Given the description of an element on the screen output the (x, y) to click on. 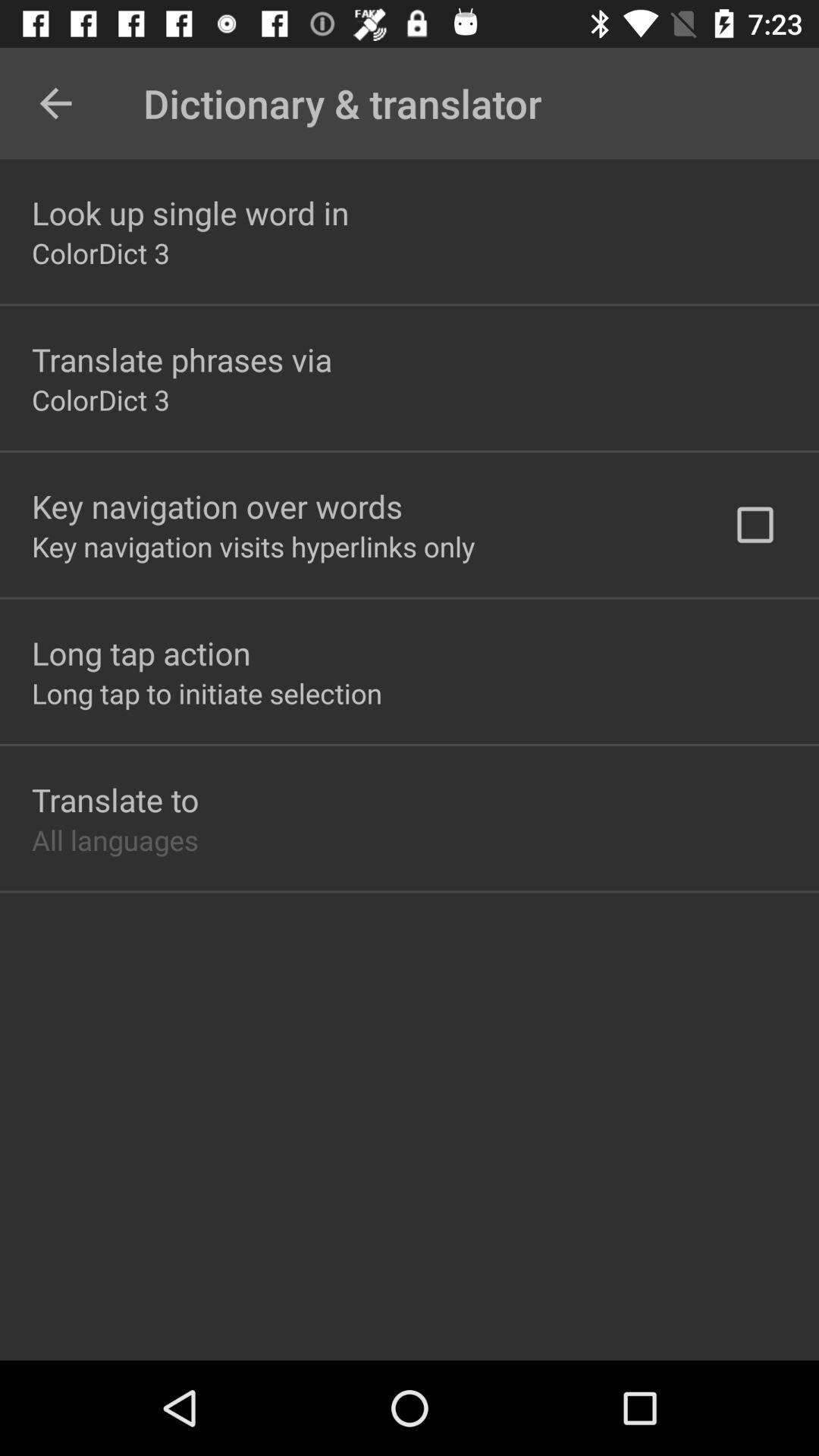
tap item below the translate to (114, 839)
